Given the description of an element on the screen output the (x, y) to click on. 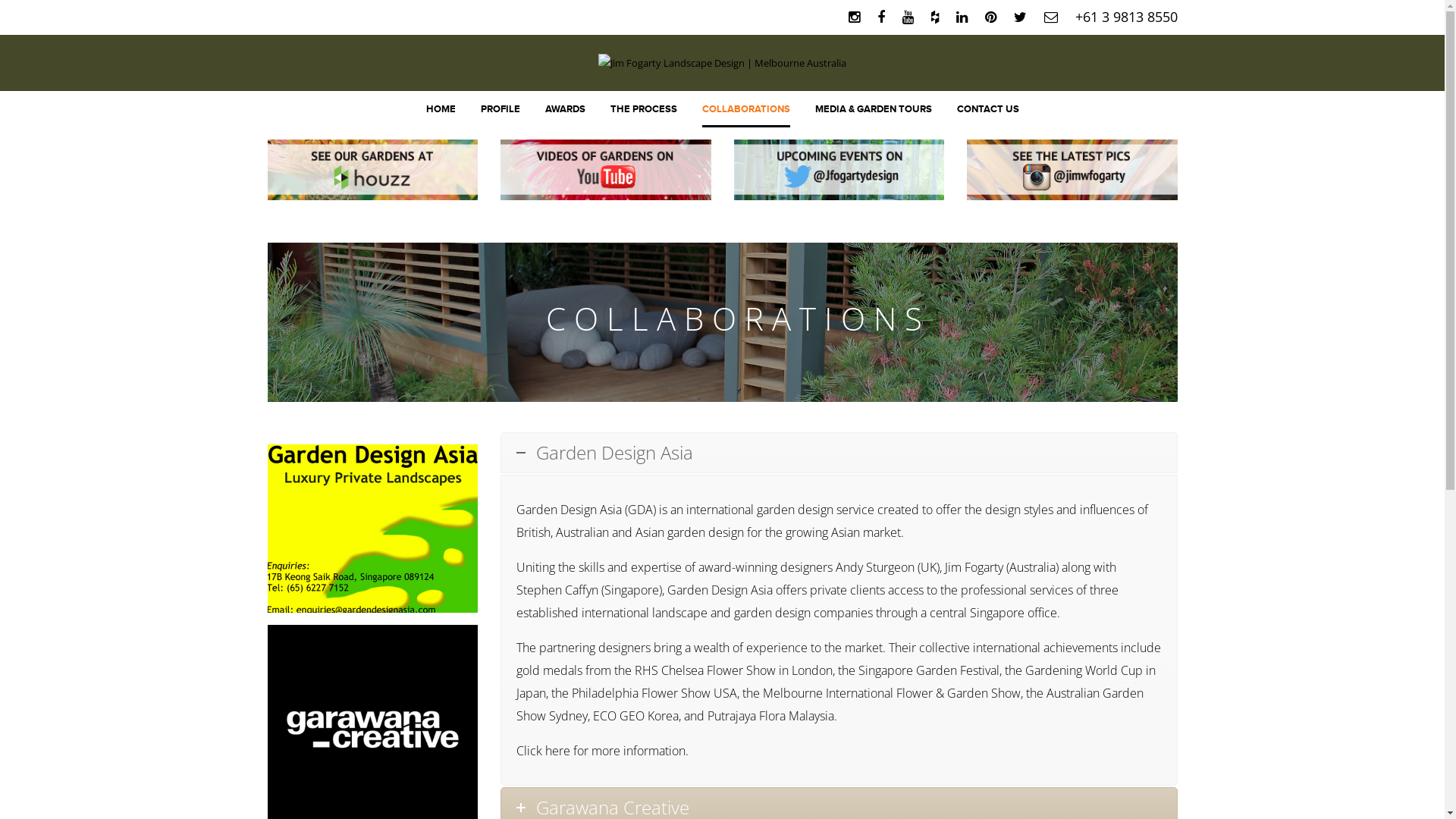
PROFILE Element type: text (500, 109)
THE PROCESS Element type: text (642, 109)
See the Latest Pics Element type: hover (1071, 169)
Upcoming Events Element type: hover (839, 169)
C O L L A B O R A T I O N S Element type: text (721, 321)
See our Gardens Element type: hover (371, 169)
AWARDS Element type: text (564, 109)
HOME Element type: text (440, 109)
COLLABORATIONS Element type: text (746, 109)
Garden Design Asia Element type: text (838, 452)
CONTACT US Element type: text (988, 109)
Videos of Gardens Element type: hover (605, 169)
MEDIA & GARDEN TOURS Element type: text (872, 109)
+61 3 9813 8550 Element type: text (1126, 16)
Jim Fogarty Landscape Design | Melbourne Australia Element type: hover (722, 62)
here Element type: text (557, 750)
